Given the description of an element on the screen output the (x, y) to click on. 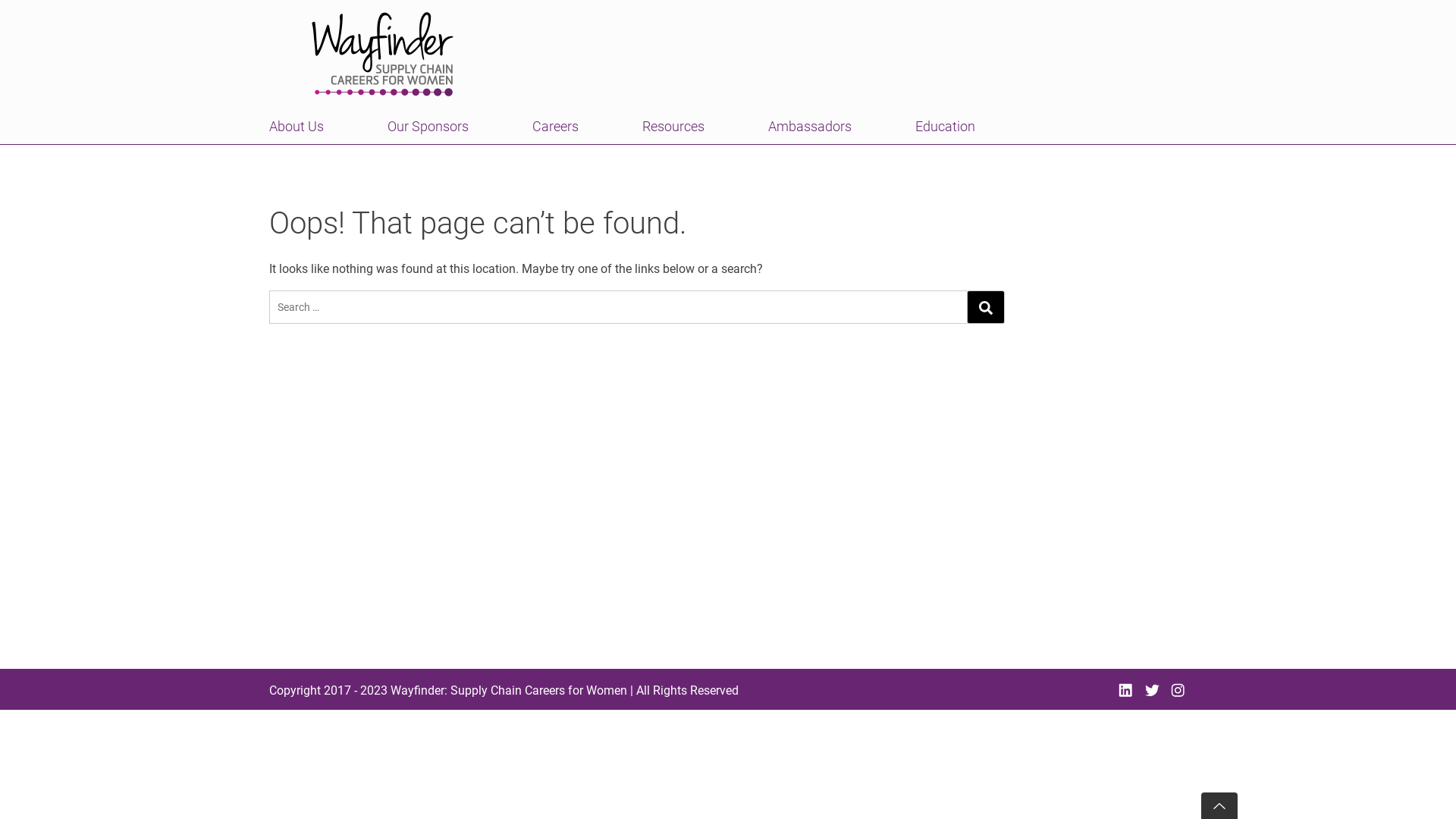
Education Element type: text (944, 126)
Instagram Element type: text (1177, 690)
Our Sponsors Element type: text (428, 126)
About Us Element type: text (302, 126)
Twitter Element type: text (1152, 690)
Ambassadors Element type: text (809, 126)
Search Element type: text (985, 306)
Careers Element type: text (554, 126)
Resources Element type: text (672, 126)
LinkedIn Element type: text (1125, 690)
